Given the description of an element on the screen output the (x, y) to click on. 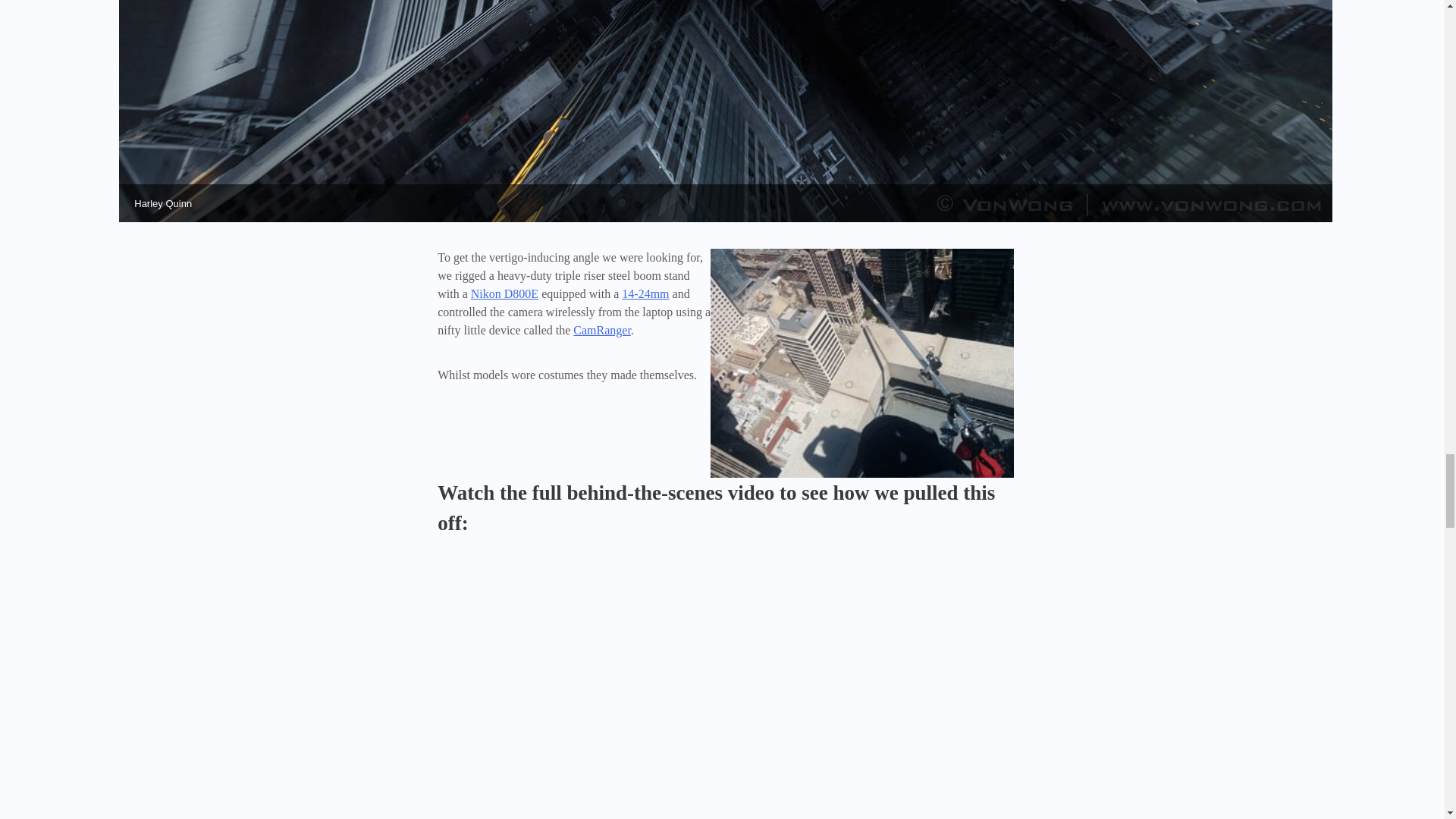
Nikon D800E (504, 293)
Superheroes on Skyscrapers - Benjamin Von Wong (725, 692)
CamRanger (601, 329)
14-24mm (644, 293)
